Given the description of an element on the screen output the (x, y) to click on. 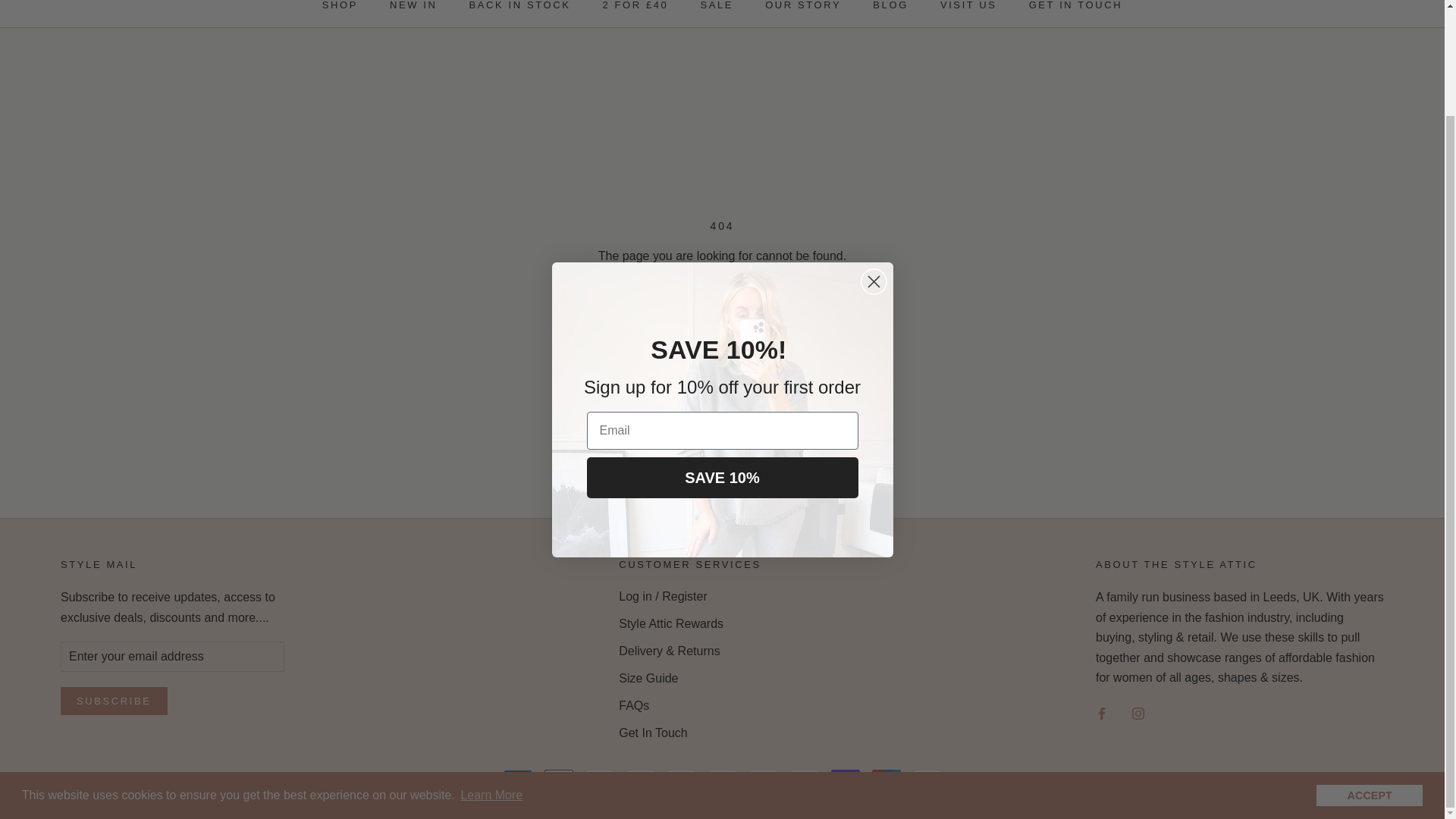
American Express (517, 778)
Visa (927, 778)
Apple Pay (558, 778)
Discover (640, 778)
Diners Club (599, 778)
PayPal (804, 778)
Union Pay (886, 778)
ACCEPT (1369, 670)
Shop Pay (845, 778)
Google Pay (680, 778)
Learn More (491, 671)
Maestro (721, 778)
Mastercard (763, 778)
